Given the description of an element on the screen output the (x, y) to click on. 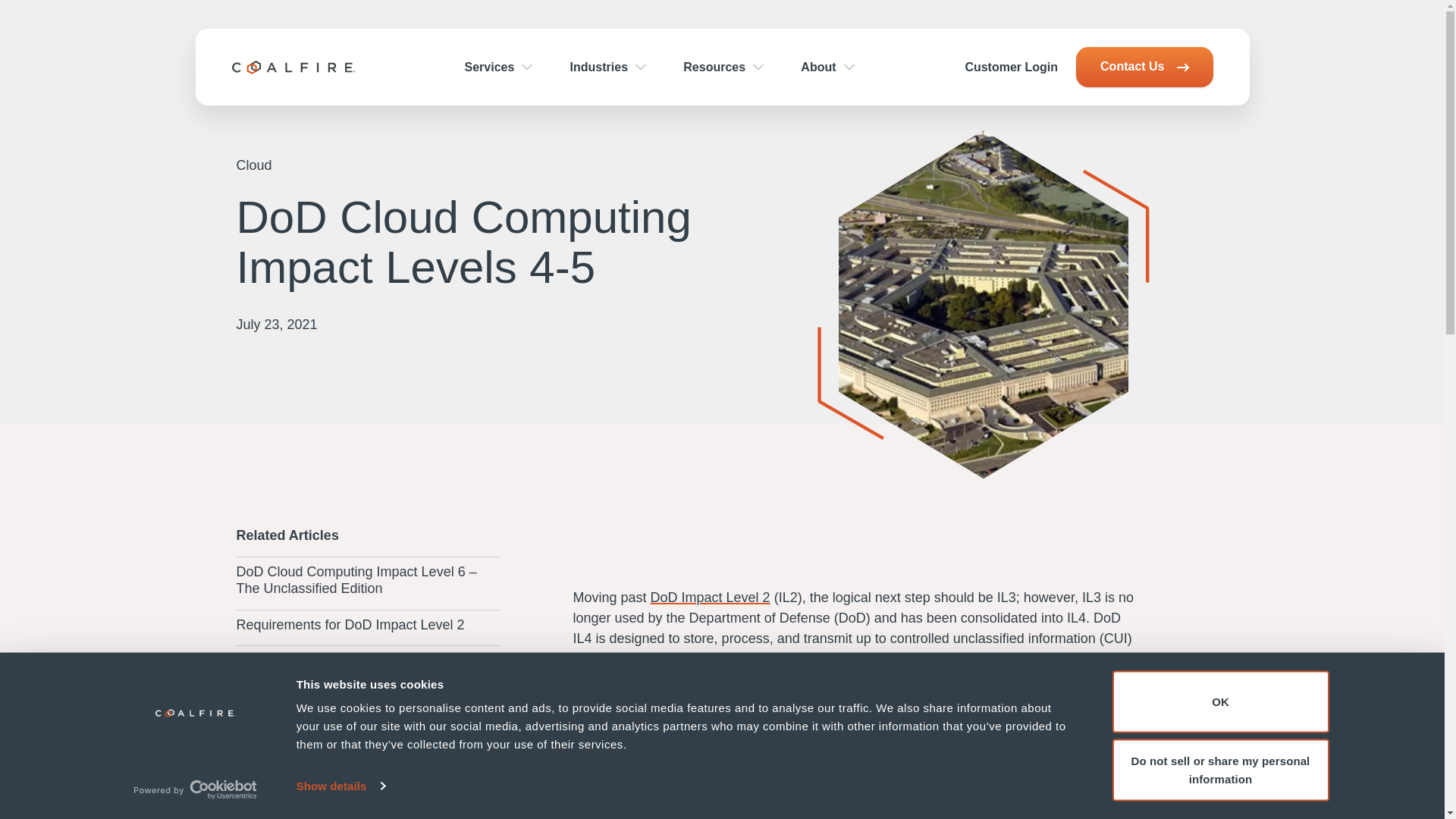
Show details (340, 785)
